Given the description of an element on the screen output the (x, y) to click on. 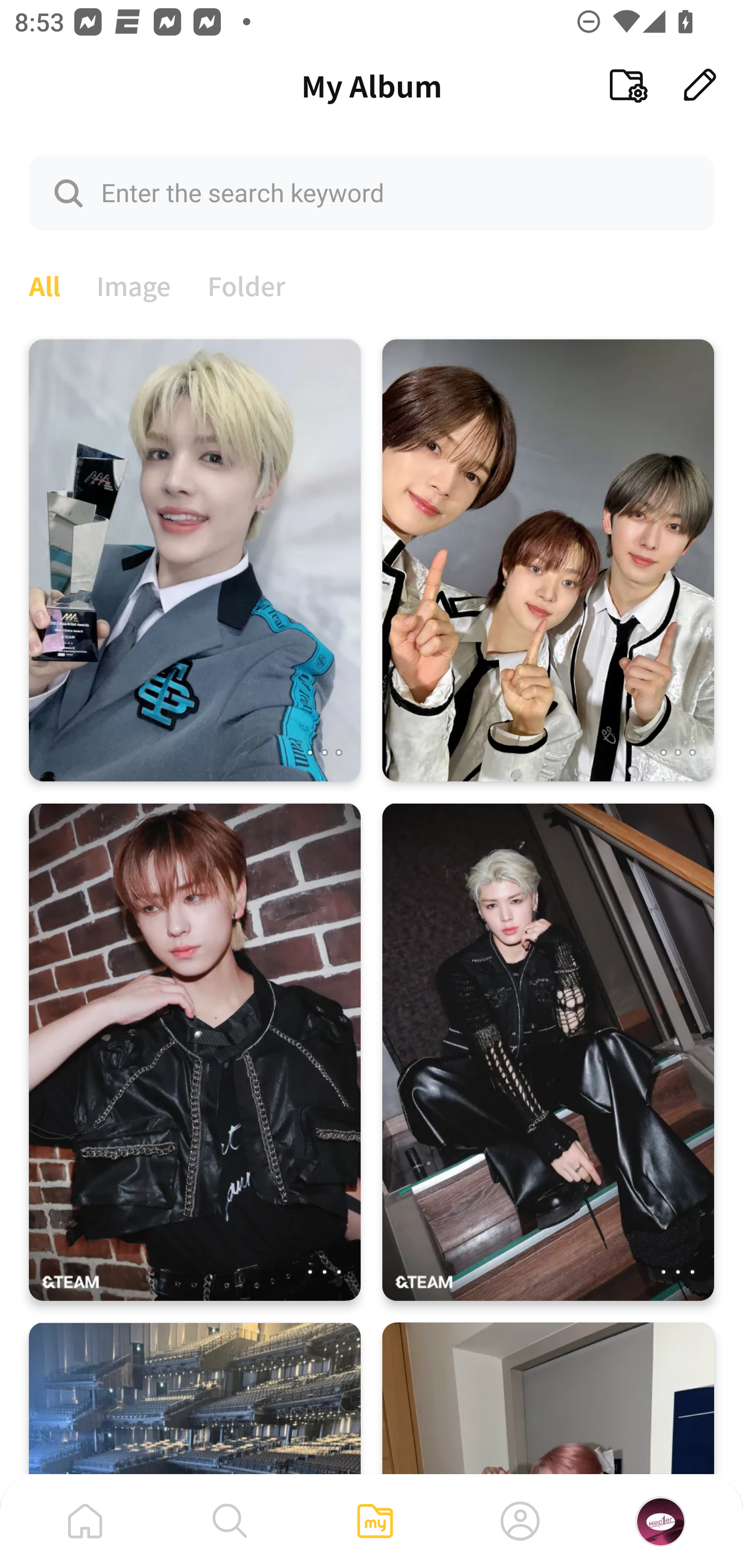
Enter the search keyword (371, 192)
All (44, 284)
Image (133, 284)
Folder (246, 284)
